Given the description of an element on the screen output the (x, y) to click on. 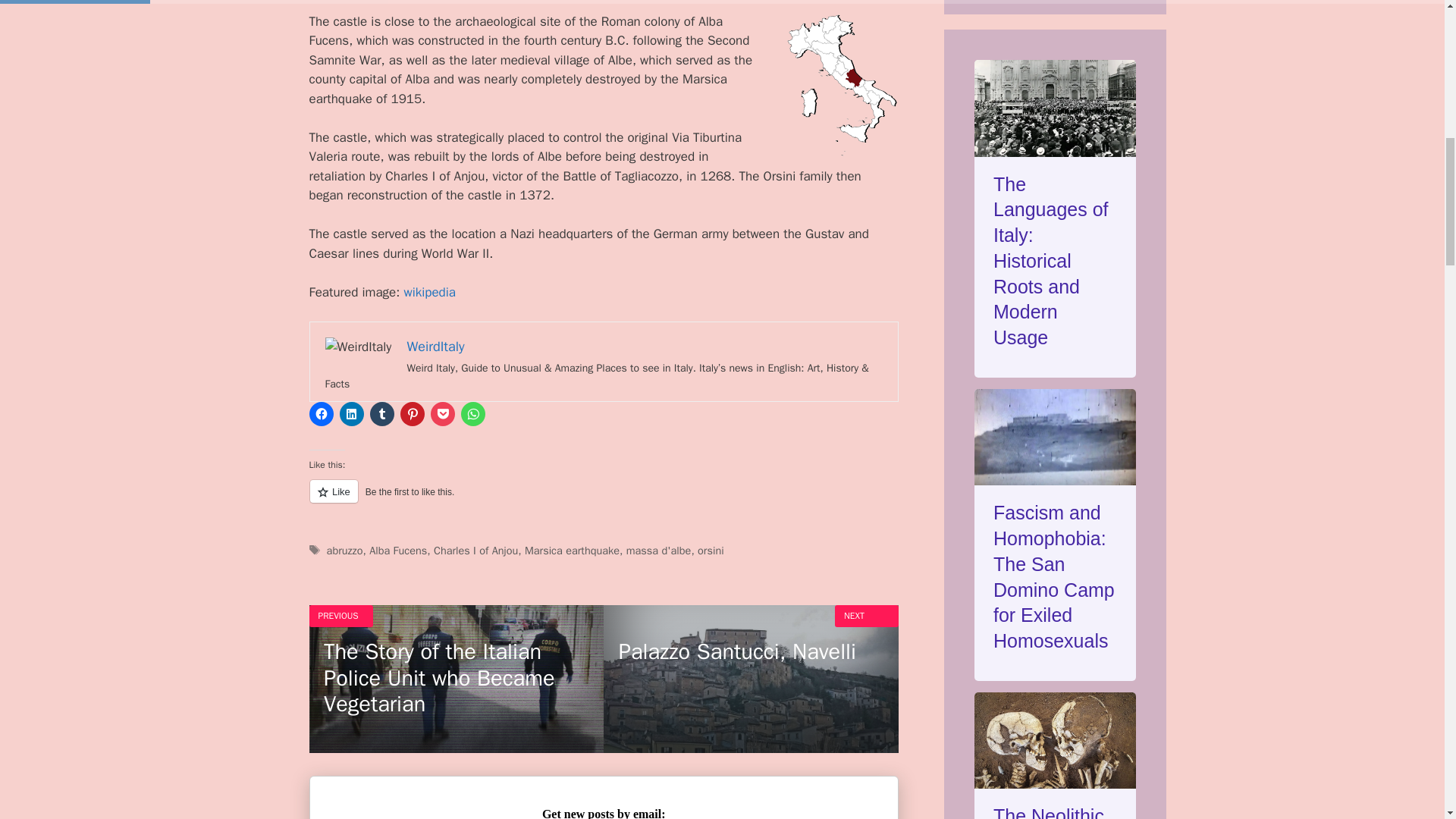
WeirdItaly (435, 346)
wikipedia (429, 292)
